Given the description of an element on the screen output the (x, y) to click on. 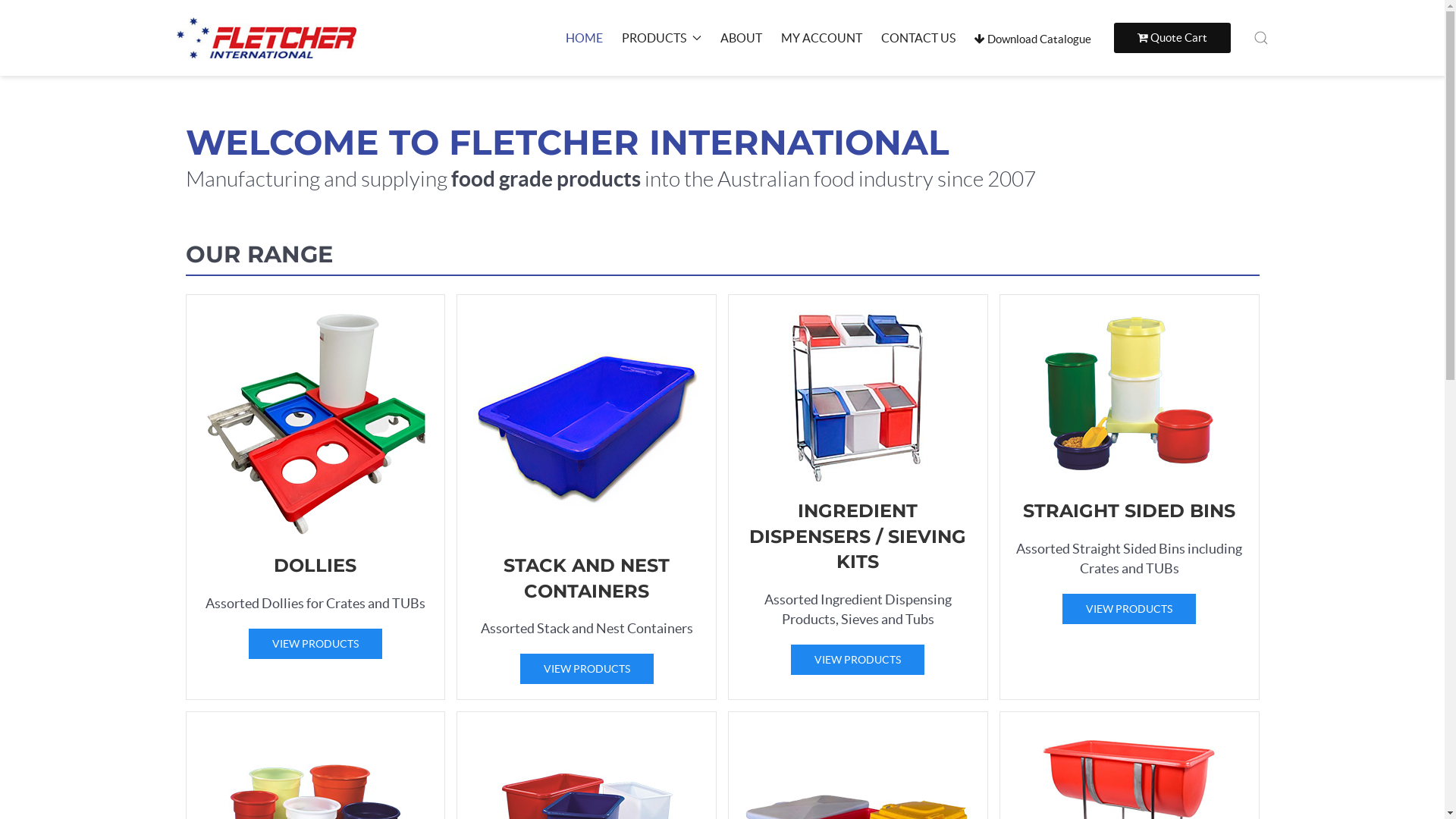
PRODUCTS Element type: text (661, 37)
MY ACCOUNT Element type: text (821, 37)
ABOUT Element type: text (741, 37)
VIEW PRODUCTS Element type: text (857, 659)
Download Catalogue Element type: text (1031, 39)
Dollies Element type: hover (315, 496)
Stack and Nest Containers Element type: hover (586, 496)
STACK AND NEST CONTAINERS Element type: text (586, 578)
Ingredient Dispensers / Sieving Kits Element type: hover (857, 496)
Search Icon Element type: hover (1259, 37)
VIEW PRODUCTS Element type: text (1128, 608)
Quote Cart Element type: text (1171, 37)
CONTACT US Element type: text (918, 37)
DOLLIES Element type: text (314, 565)
HOME Element type: text (583, 37)
VIEW PRODUCTS Element type: text (315, 643)
INGREDIENT DISPENSERS / SIEVING KITS Element type: text (857, 535)
STRAIGHT SIDED BINS Element type: text (1128, 510)
Straight Sided Bins Element type: hover (1129, 496)
VIEW PRODUCTS Element type: text (586, 668)
